Given the description of an element on the screen output the (x, y) to click on. 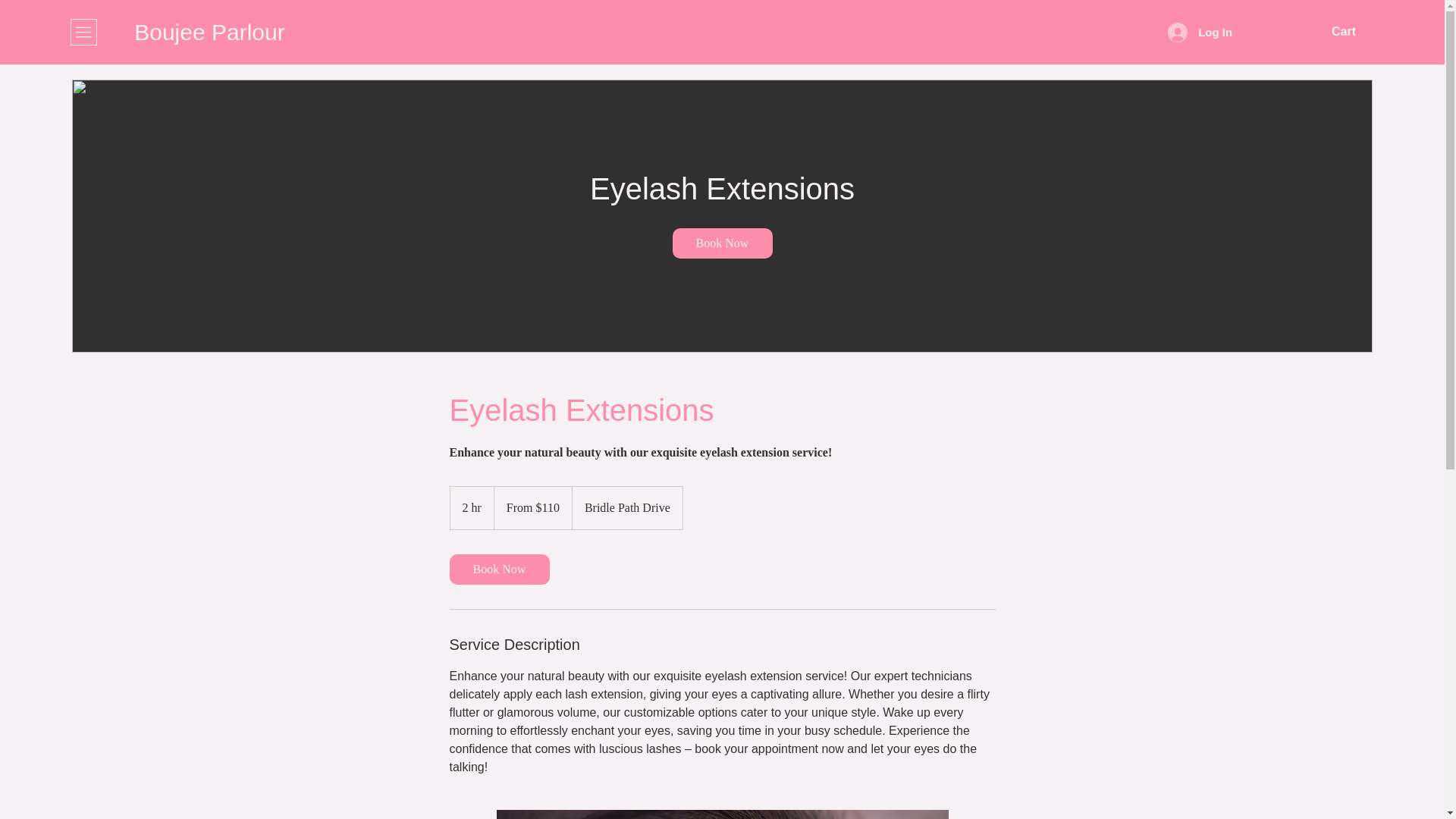
Book Now (498, 569)
Log In (1200, 32)
Boujee Parlour (208, 32)
Cart (1343, 32)
Book Now (721, 243)
